Given the description of an element on the screen output the (x, y) to click on. 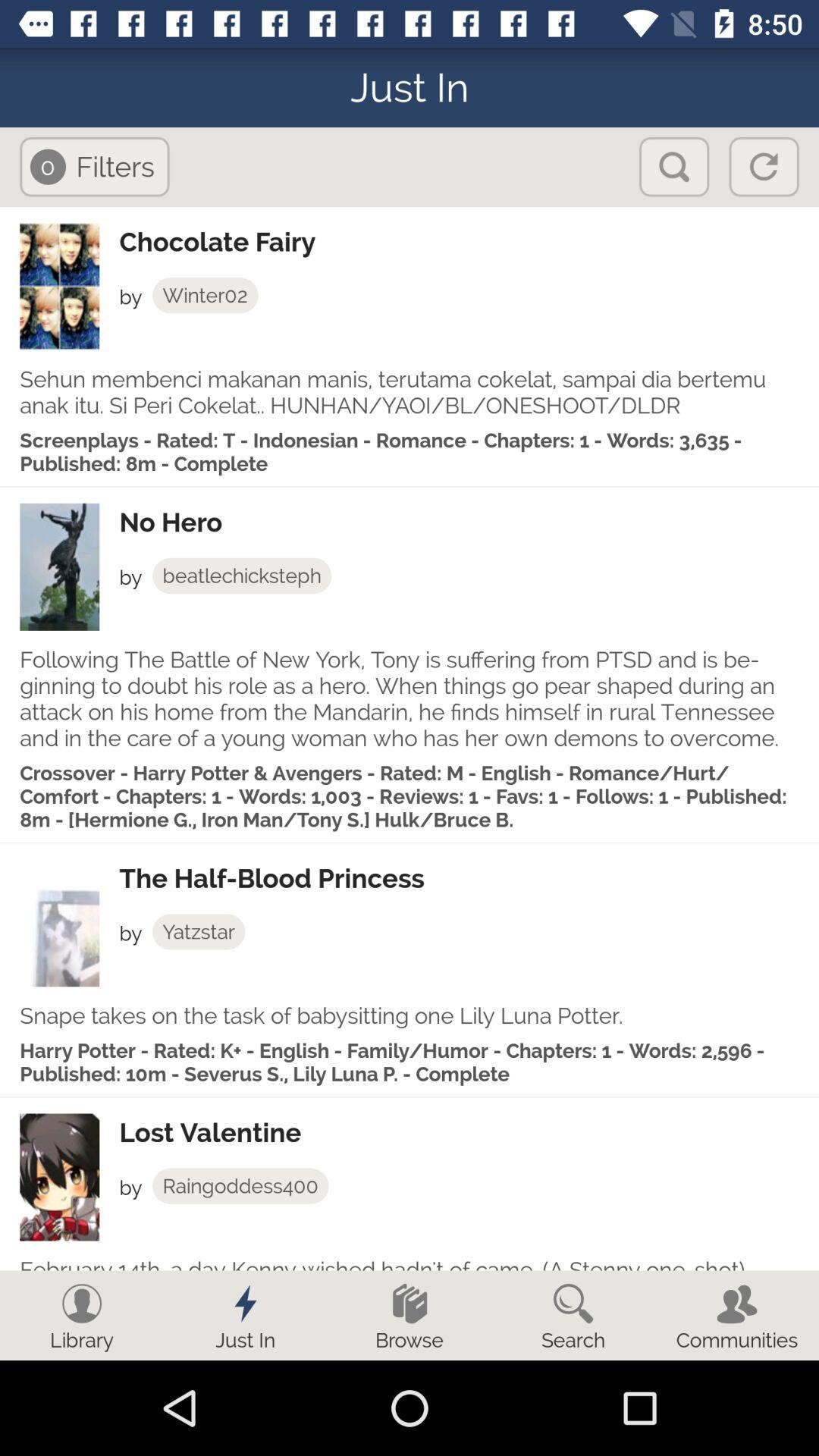
press the item below no hero app (241, 575)
